Given the description of an element on the screen output the (x, y) to click on. 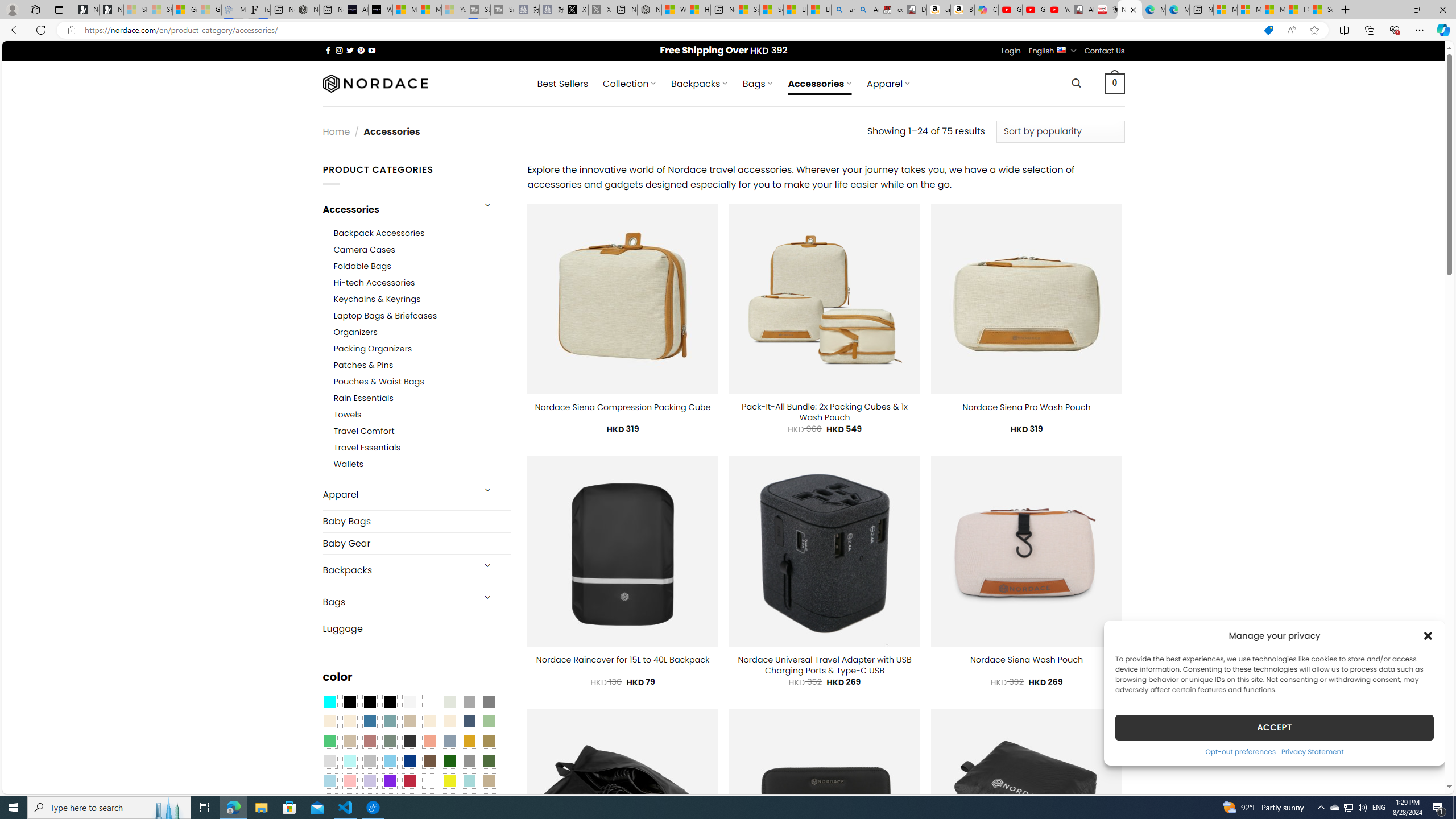
Gold (468, 741)
Follow on Twitter (349, 49)
Backpack Accessories (422, 232)
Wildlife - MSN (673, 9)
Emerald Green (329, 741)
Keychains & Keyrings (422, 298)
Backpack Accessories (379, 232)
Opt-out preferences (1240, 750)
X - Sleeping (600, 9)
Amazon Echo Dot PNG - Search Images (866, 9)
amazon - Search (843, 9)
